Given the description of an element on the screen output the (x, y) to click on. 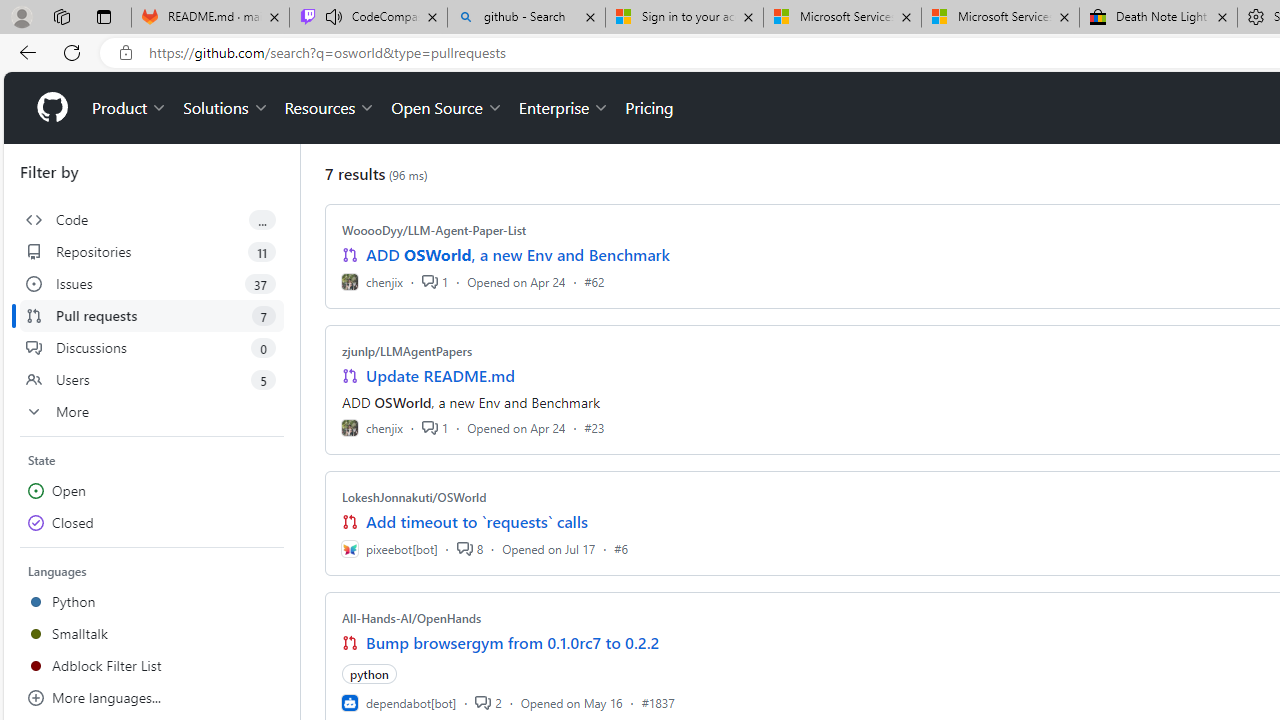
Open Source (446, 107)
#6 (621, 548)
zjunlp/LLMAgentPapers (407, 351)
#1837 (657, 702)
#23 (594, 427)
Microsoft Services Agreement (1000, 17)
8 (469, 548)
WooooDyy/LLM-Agent-Paper-List (434, 230)
